Given the description of an element on the screen output the (x, y) to click on. 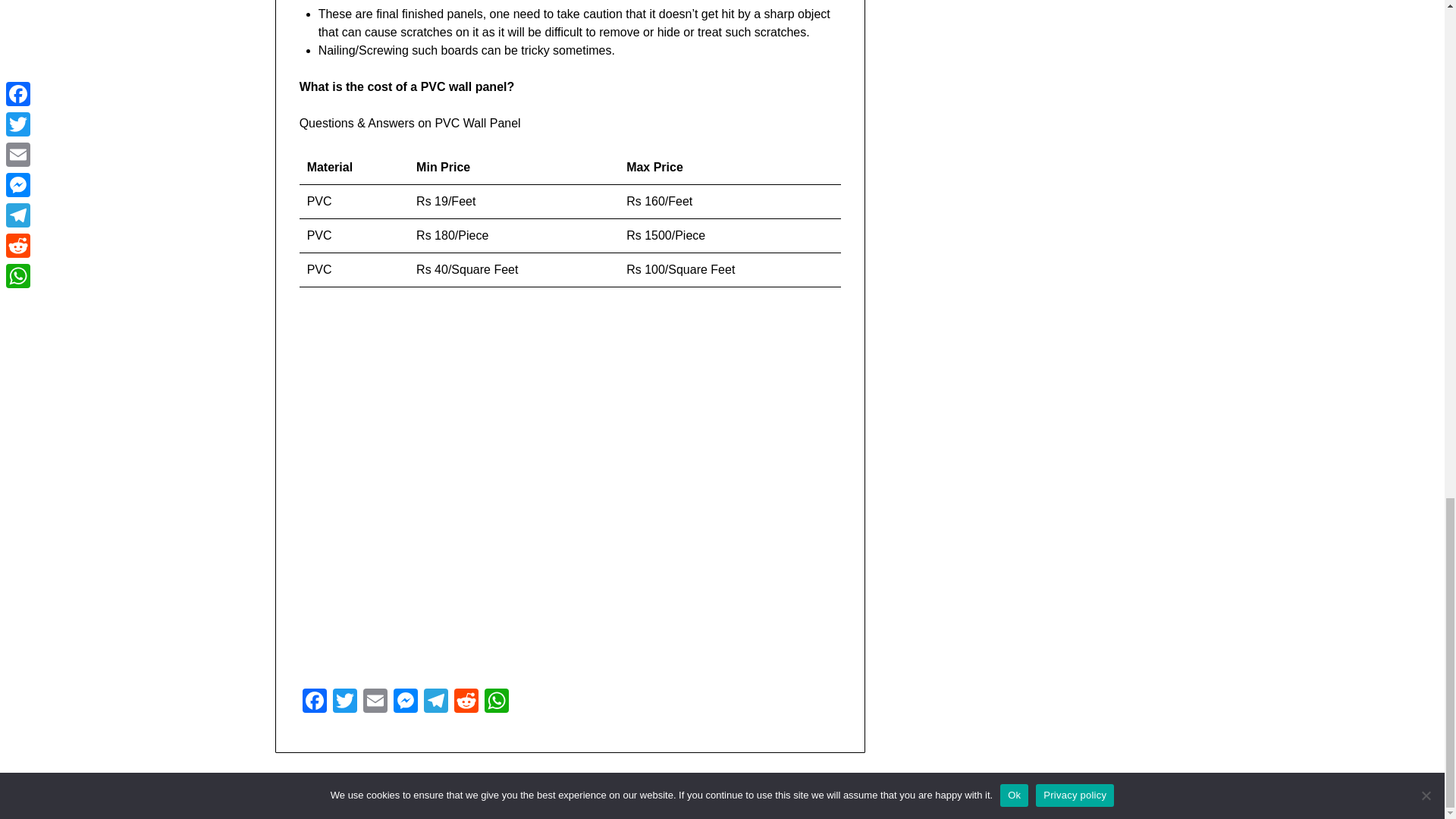
WhatsApp (496, 702)
Messenger (405, 702)
Telegram (435, 702)
Email (374, 702)
Messenger (405, 702)
Facebook (314, 702)
Email (374, 702)
Reddit (466, 702)
Twitter (344, 702)
Reddit (466, 702)
WhatsApp (496, 702)
Facebook (314, 702)
Telegram (435, 702)
Minimalist Blog (793, 797)
